Given the description of an element on the screen output the (x, y) to click on. 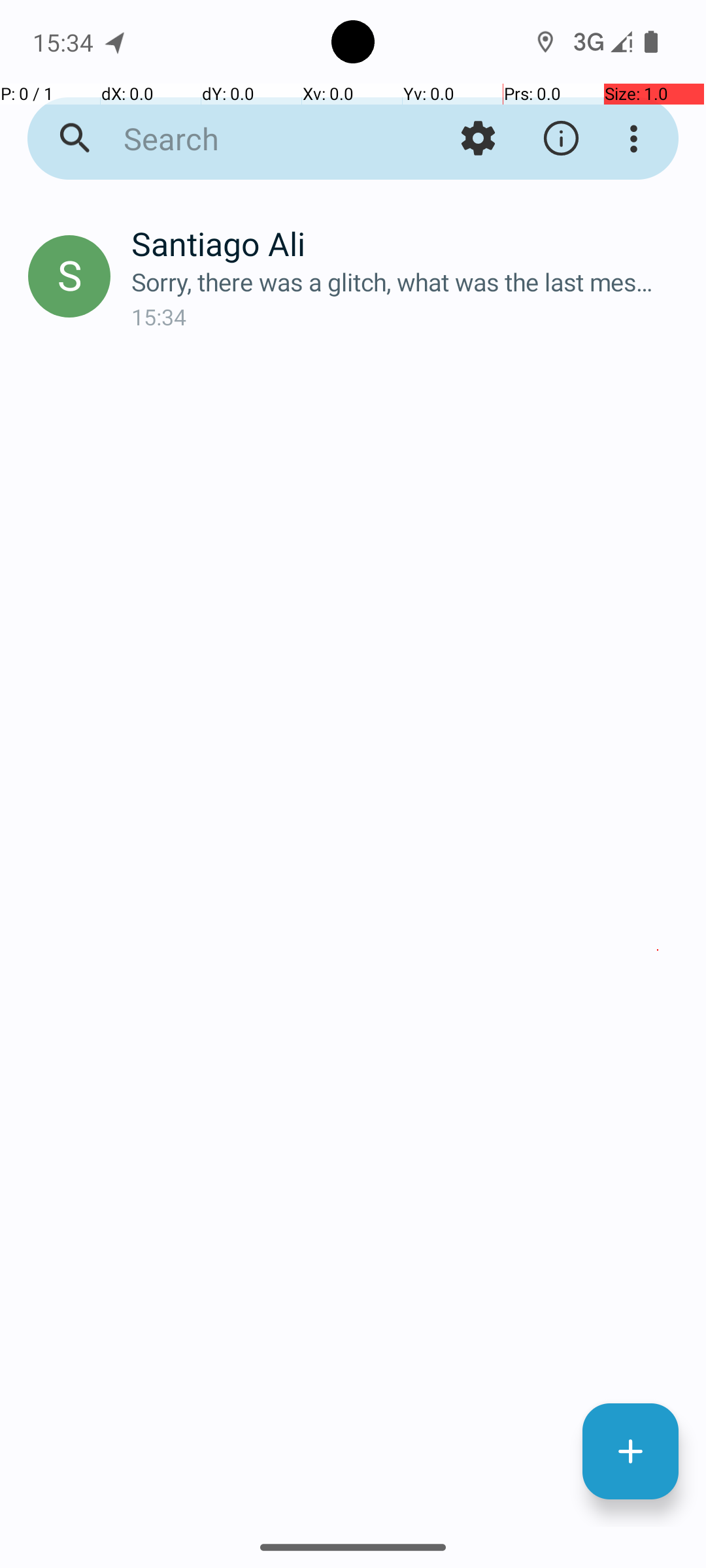
Santiago Ali Element type: android.widget.TextView (408, 242)
